Given the description of an element on the screen output the (x, y) to click on. 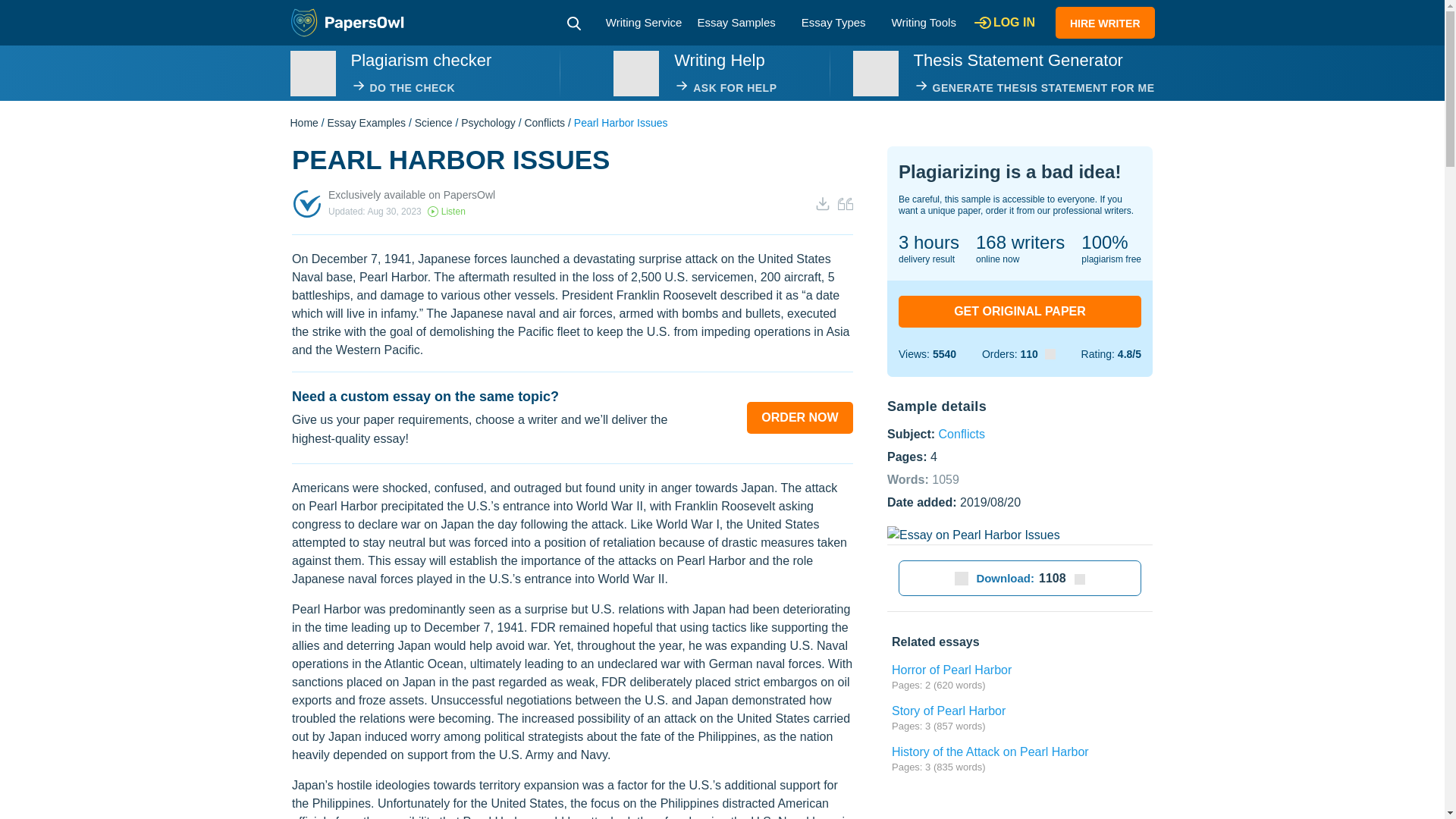
Pearl Harbor Issues (972, 535)
image (635, 72)
image (875, 72)
image (311, 72)
Writing Service (643, 21)
